Given the description of an element on the screen output the (x, y) to click on. 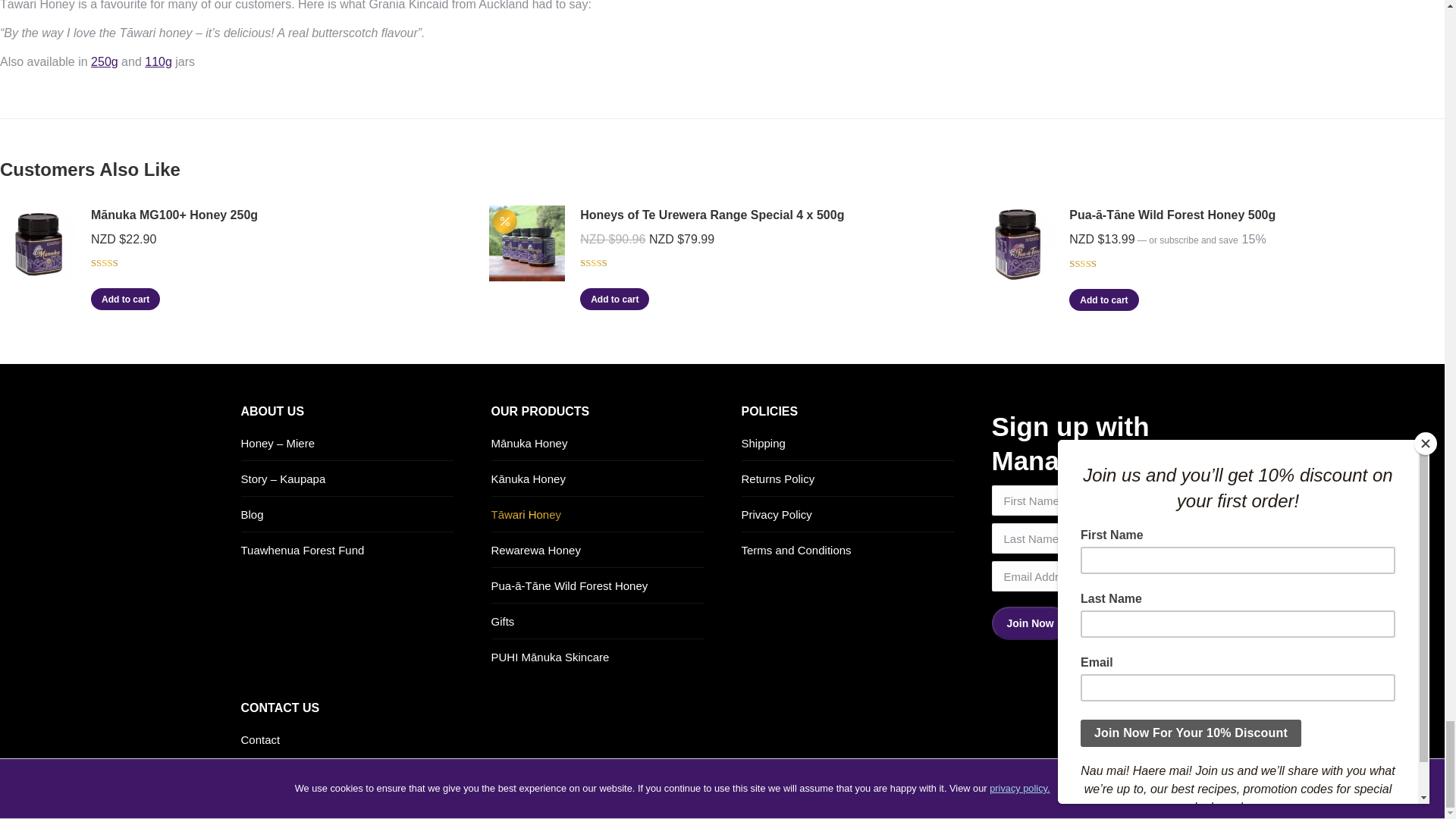
Join Now (1029, 622)
Last Name (1075, 538)
Email Address (1075, 576)
First Name (1075, 500)
